Given the description of an element on the screen output the (x, y) to click on. 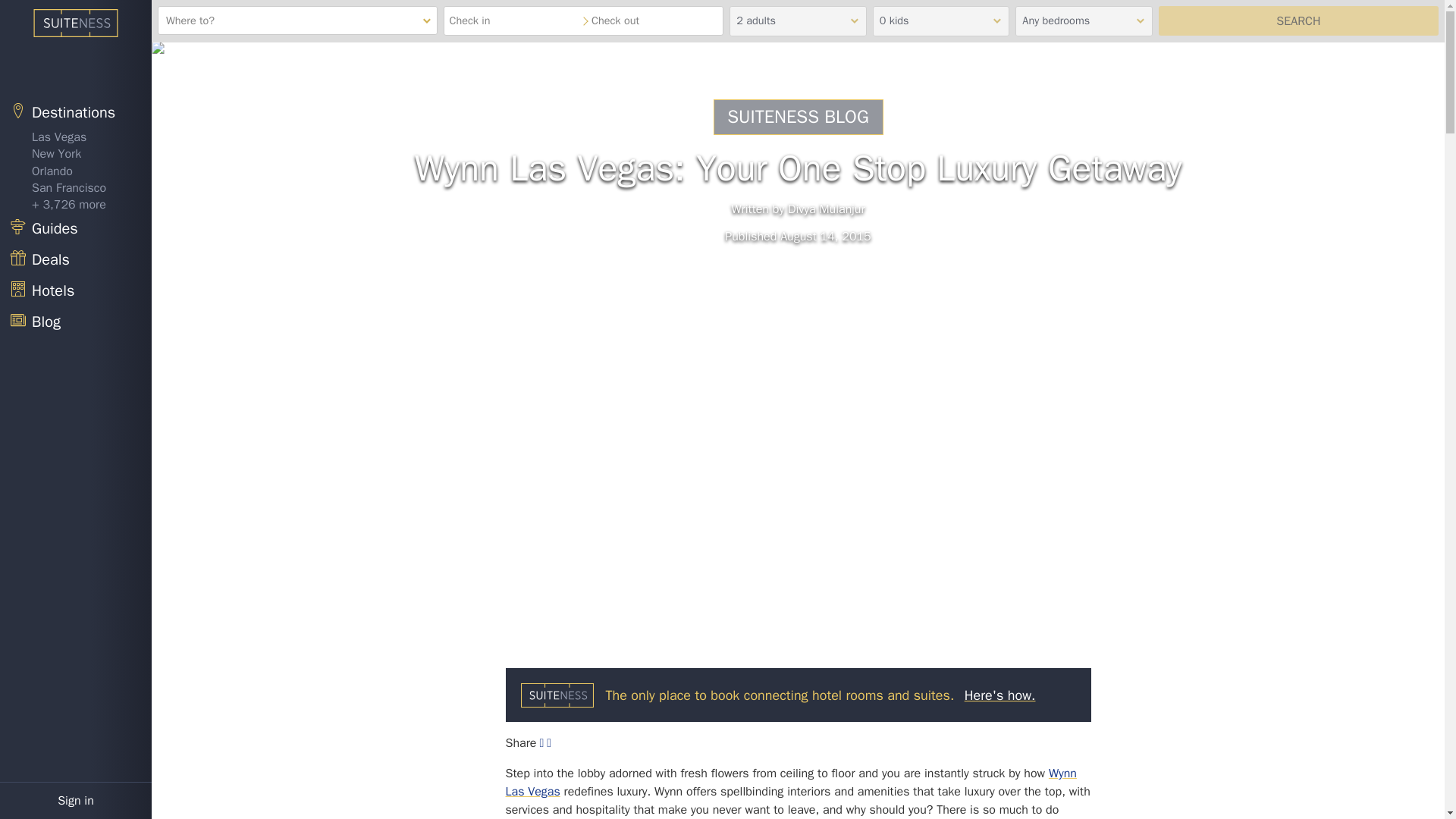
Wynn Las Vegas (790, 782)
Sign in (75, 800)
Here's how. (999, 695)
Orlando (75, 170)
New York (75, 153)
Deals (75, 260)
Blog (75, 322)
Destinations (75, 112)
Search (1298, 20)
San Francisco (75, 187)
